Given the description of an element on the screen output the (x, y) to click on. 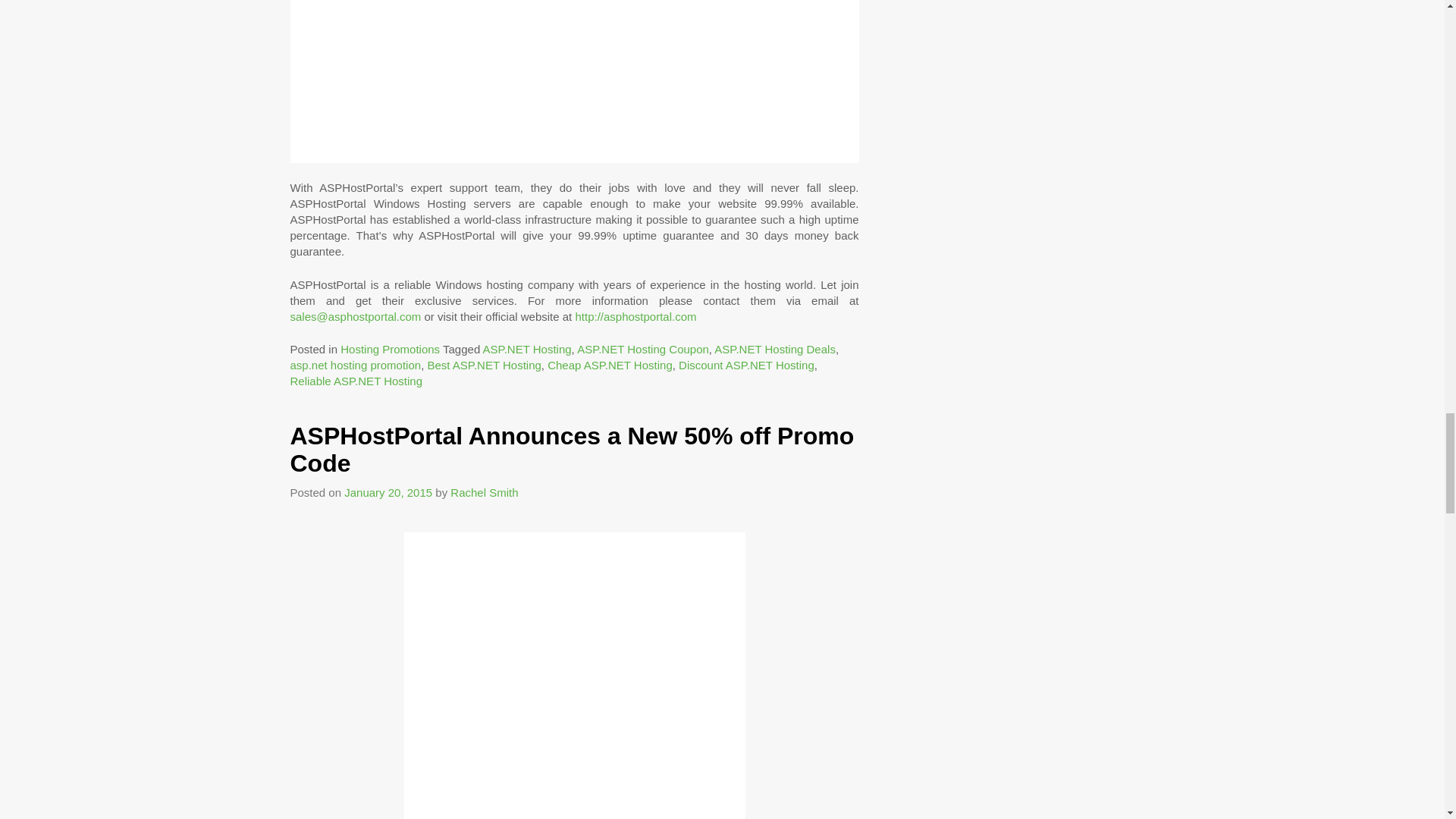
ASP.NET Hosting (527, 349)
ASP.NET Hosting Deals (774, 349)
asp.net hosting promotion (354, 364)
Best ASP.NET Hosting (483, 364)
ASP.NET Hosting Coupon (642, 349)
Hosting Promotions (389, 349)
Cheap ASP.NET Hosting (609, 364)
